Given the description of an element on the screen output the (x, y) to click on. 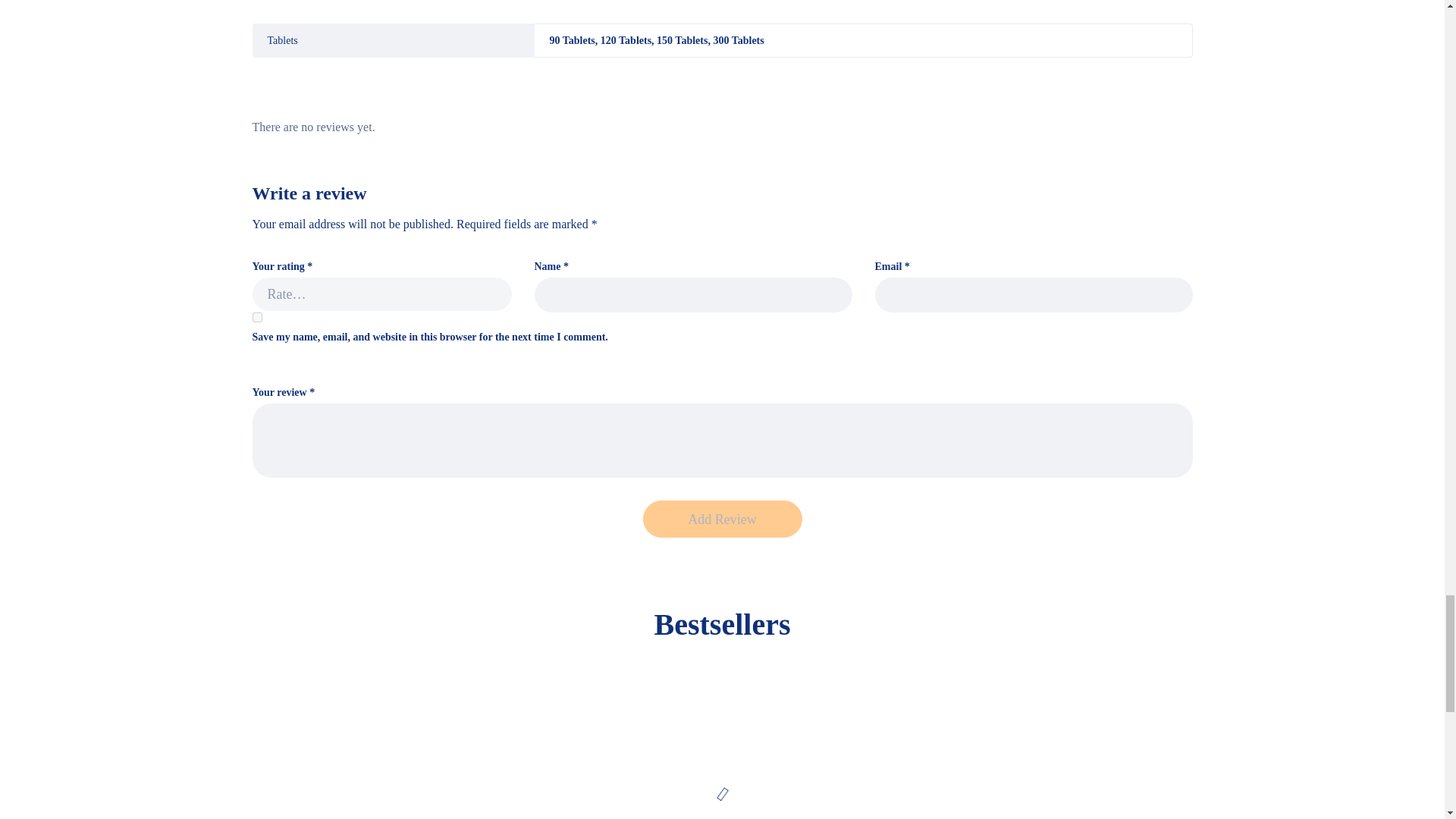
Add Review (722, 518)
yes (256, 317)
